Given the description of an element on the screen output the (x, y) to click on. 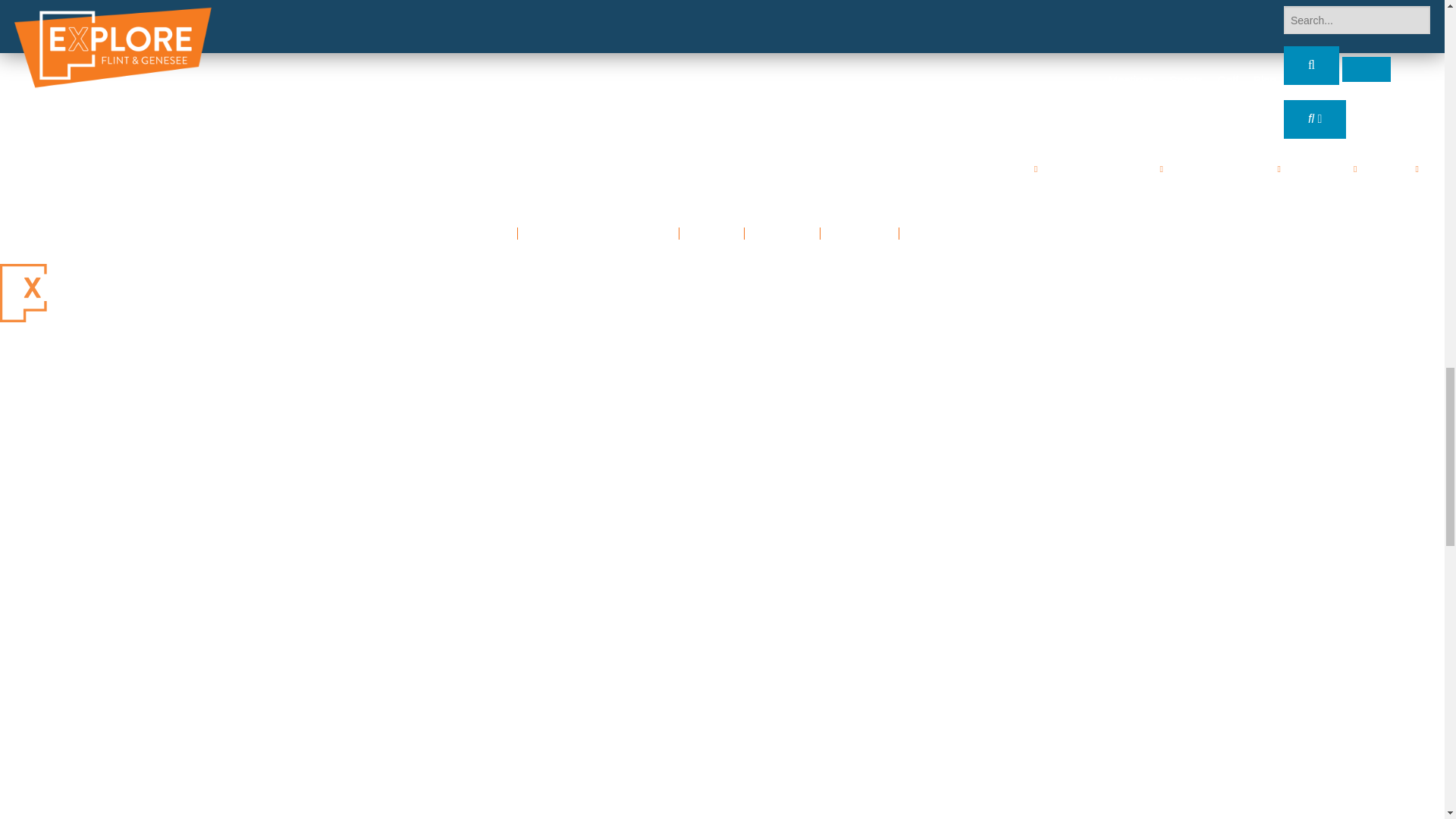
Privacy Policy (955, 233)
About Us (475, 233)
Contact (782, 233)
Tourism Ambassadors (597, 233)
Sitemap (858, 233)
Media (711, 233)
